Given the description of an element on the screen output the (x, y) to click on. 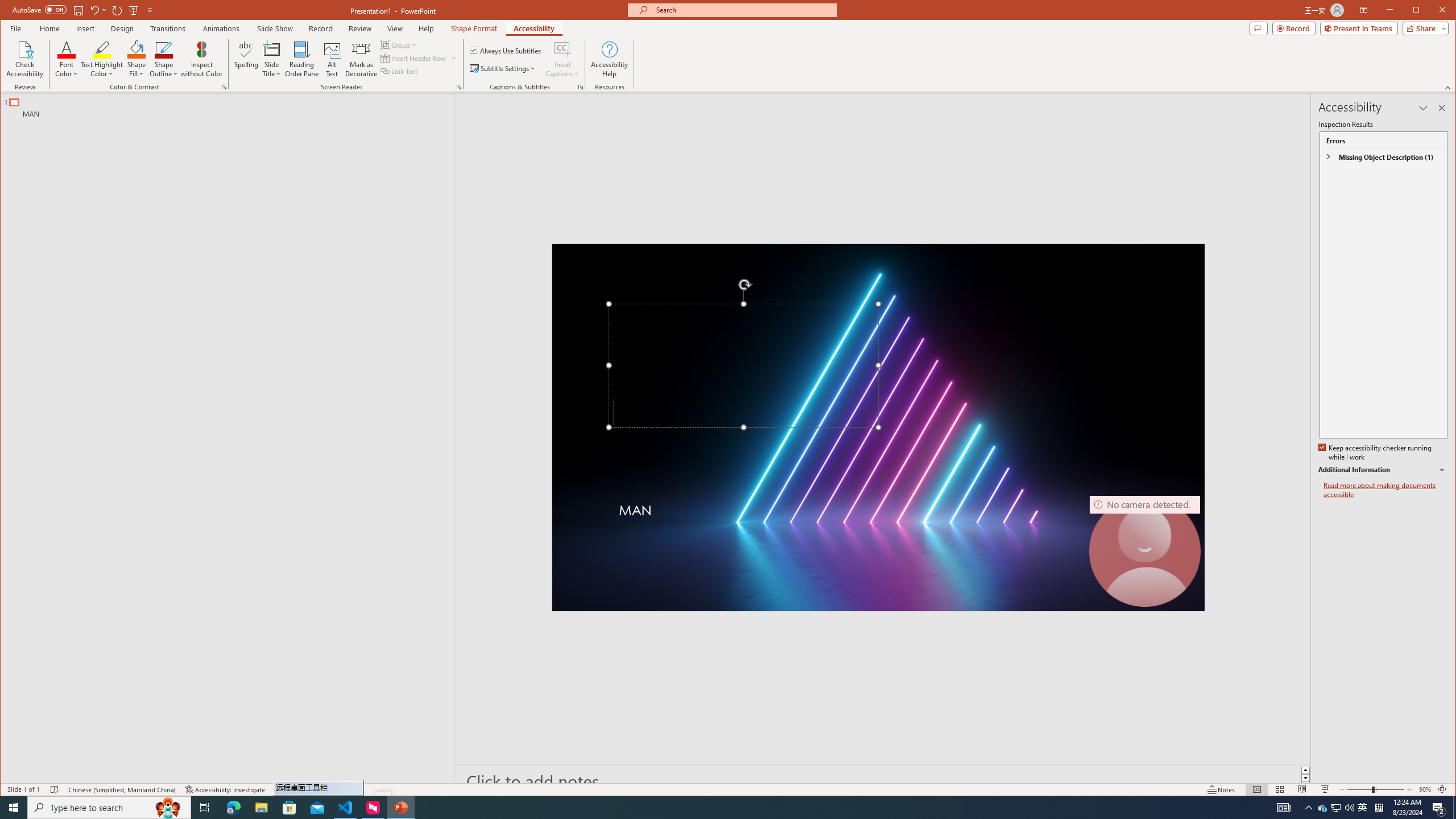
Spelling... (246, 59)
Always Use Subtitles (505, 49)
Shape Outline Blue, Accent 1 (163, 48)
Additional Information (1382, 469)
Read more about making documents accessible (1385, 489)
